Given the description of an element on the screen output the (x, y) to click on. 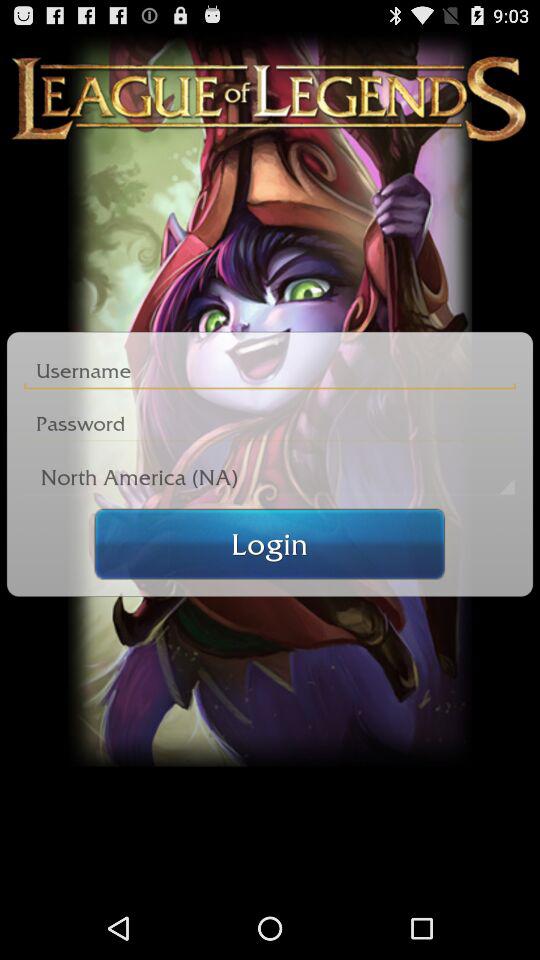
input information (269, 370)
